Given the description of an element on the screen output the (x, y) to click on. 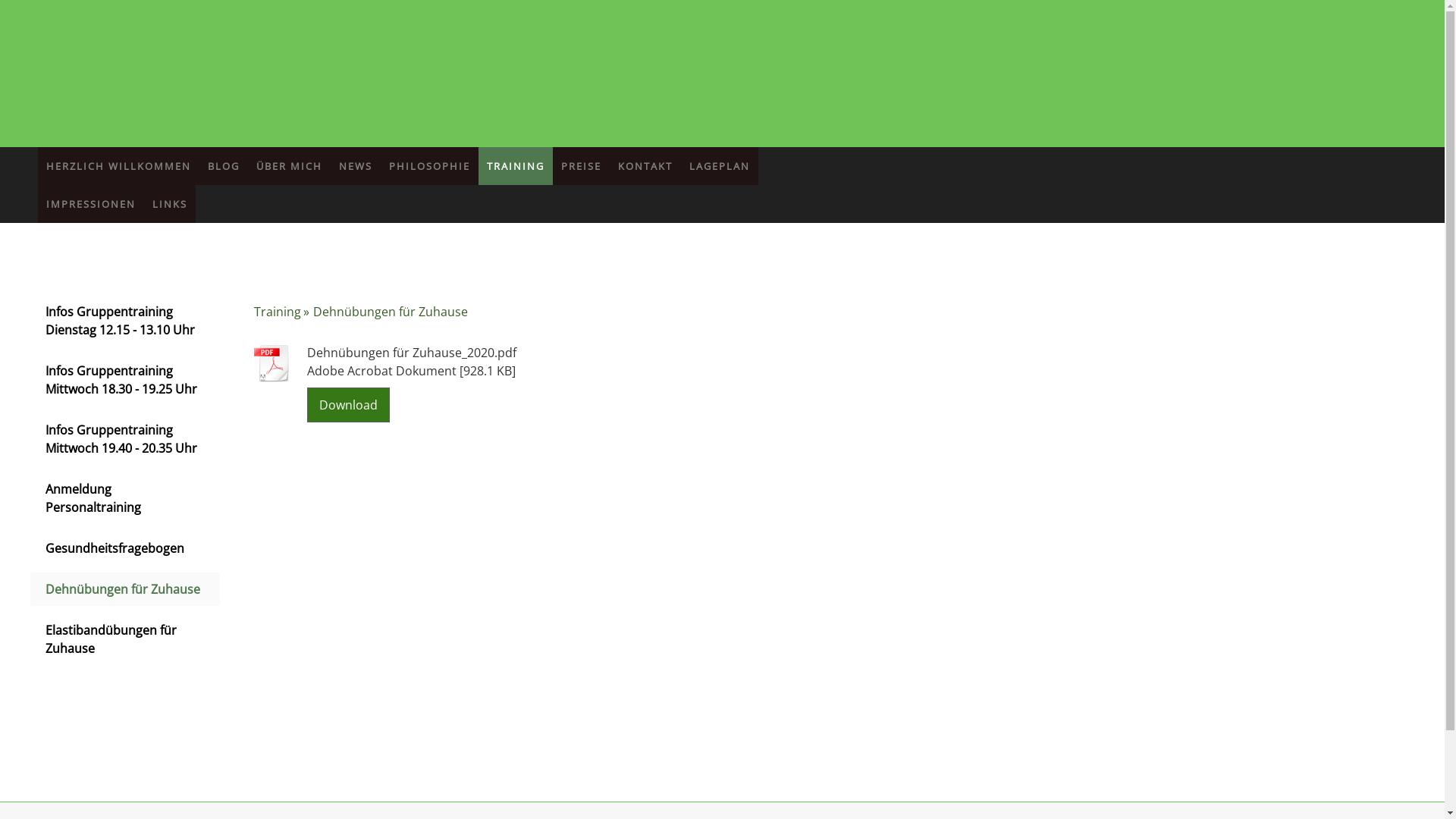
BLOG Element type: text (223, 166)
Infos Gruppentraining Mittwoch 19.40 - 20.35 Uhr Element type: text (124, 438)
Infos Gruppentraining Dienstag 12.15 - 13.10 Uhr Element type: text (124, 320)
KONTAKT Element type: text (644, 166)
IMPRESSIONEN Element type: text (90, 203)
PHILOSOPHIE Element type: text (429, 166)
LINKS Element type: text (169, 203)
Anmeldung Personaltraining Element type: text (124, 498)
Gesundheitsfragebogen Element type: text (124, 547)
HERZLICH WILLKOMMEN Element type: text (118, 166)
LAGEPLAN Element type: text (719, 166)
TRAINING Element type: text (515, 166)
NEWS Element type: text (355, 166)
PREISE Element type: text (580, 166)
Infos Gruppentraining Mittwoch 18.30 - 19.25 Uhr Element type: text (124, 379)
Training Element type: text (283, 311)
Download Element type: text (348, 404)
